Given the description of an element on the screen output the (x, y) to click on. 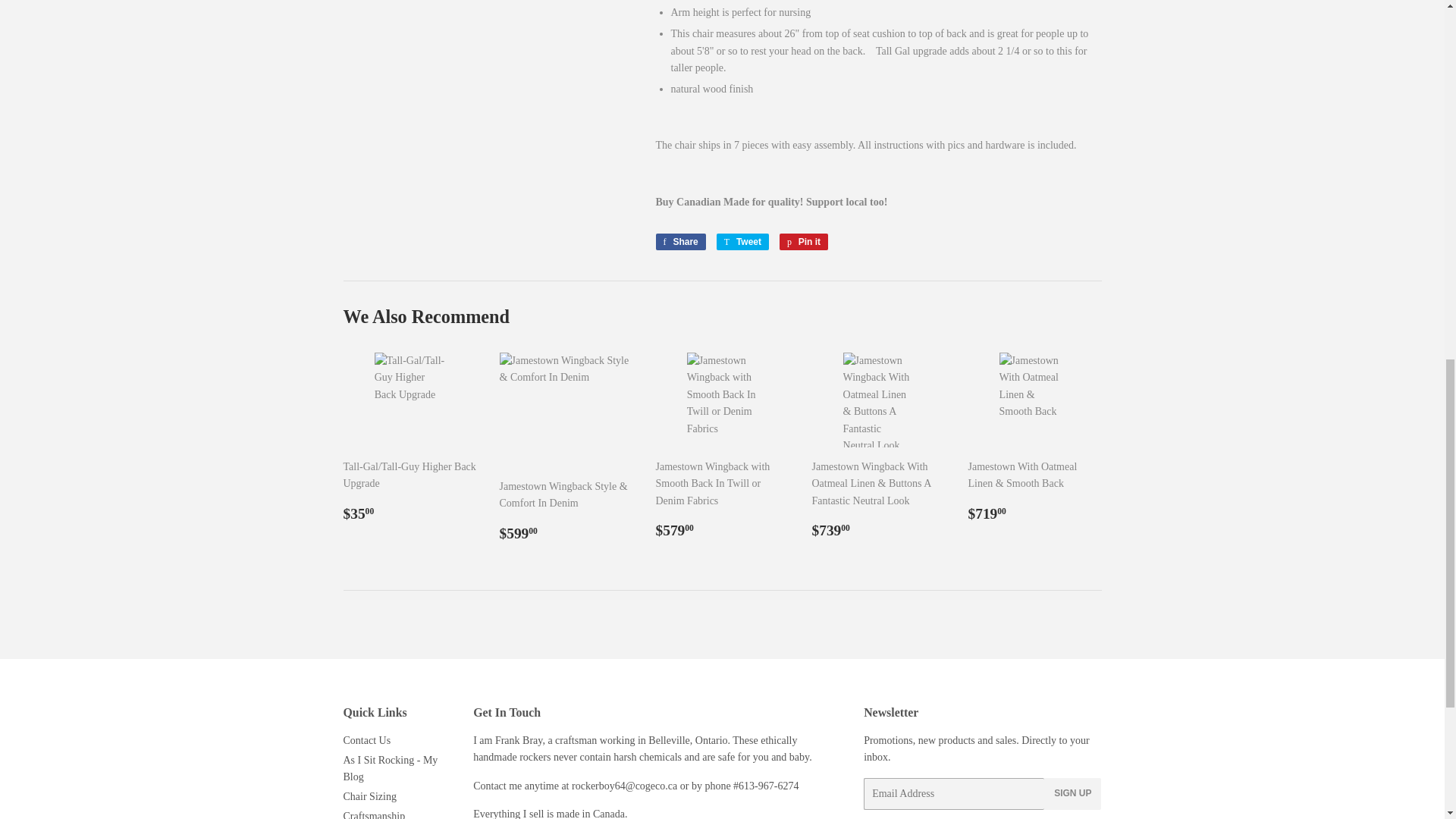
Share on Facebook (679, 241)
Pin on Pinterest (803, 241)
Contact Frank at Off Your Rocker (575, 785)
Tweet on Twitter (742, 241)
